Given the description of an element on the screen output the (x, y) to click on. 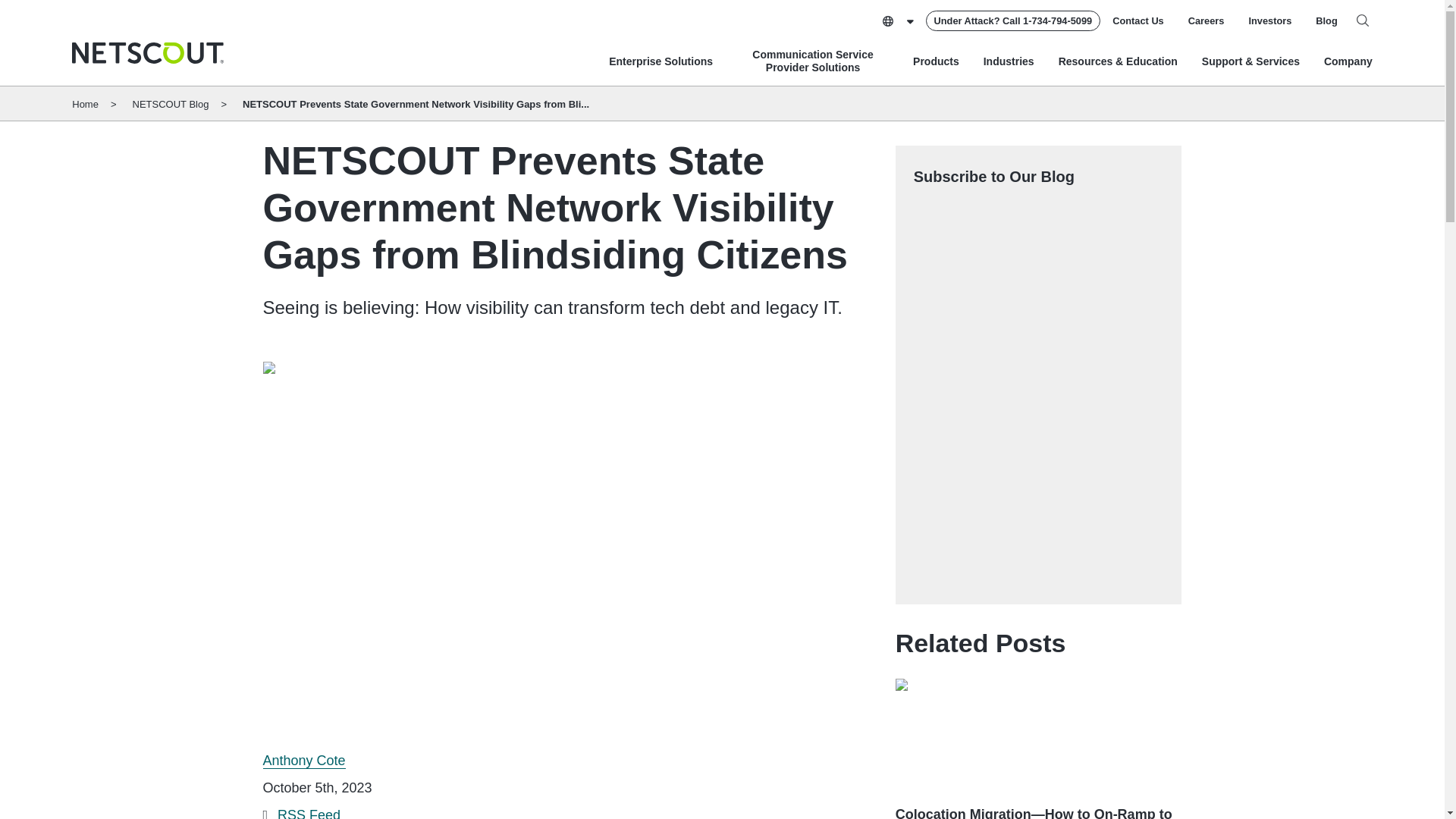
Home (147, 52)
Blog (1326, 20)
Contact Us (1138, 20)
Search (1362, 20)
Under Attack? Call 1-734-794-5099 (1013, 20)
Search (1362, 20)
Careers (1206, 20)
Investors (1269, 20)
